Given the description of an element on the screen output the (x, y) to click on. 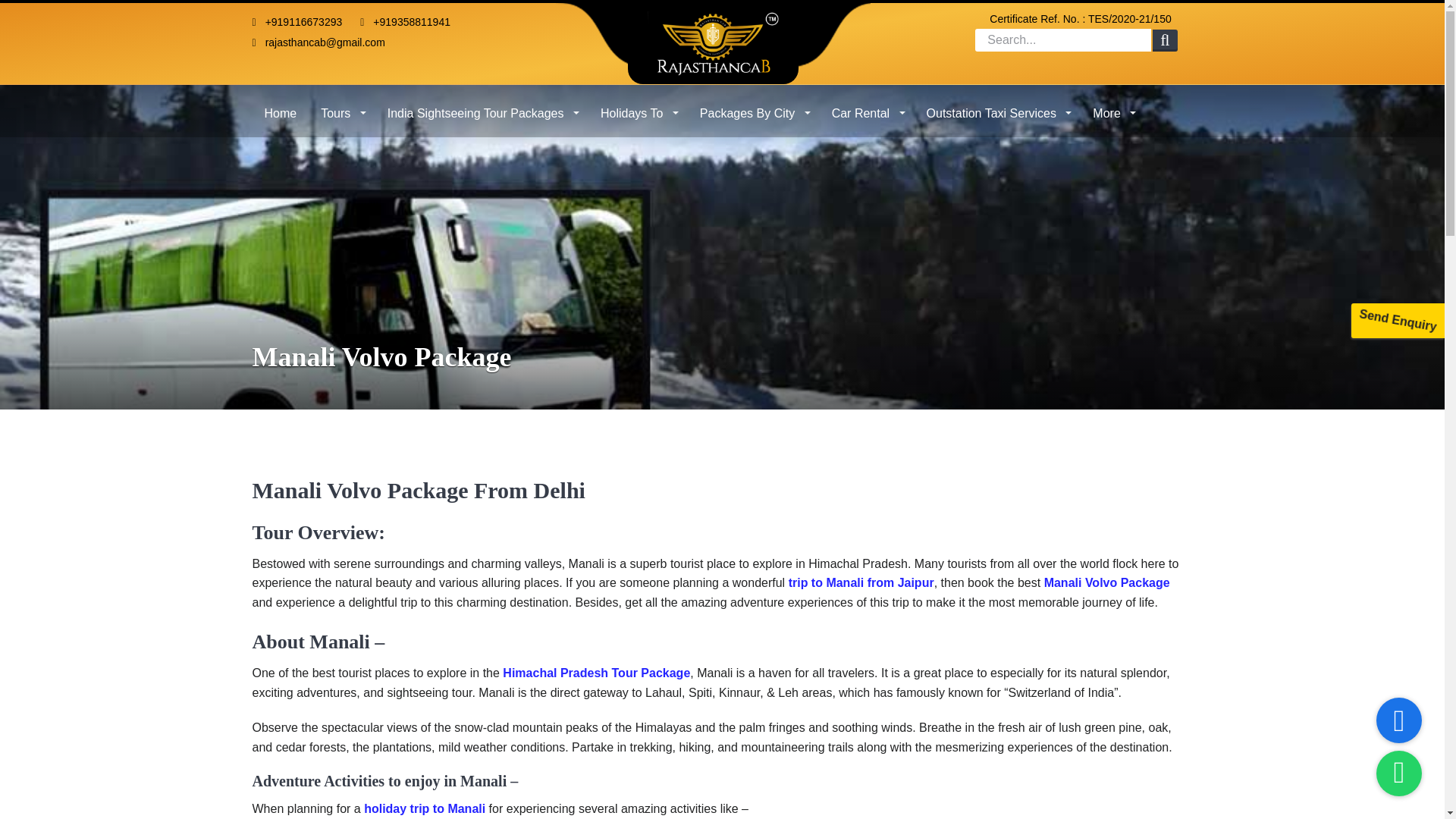
Search (1164, 40)
Holidays To (637, 108)
Home (279, 108)
India Sightseeing Tour Packages (481, 108)
Search for: (1063, 39)
Tours (341, 108)
